Given the description of an element on the screen output the (x, y) to click on. 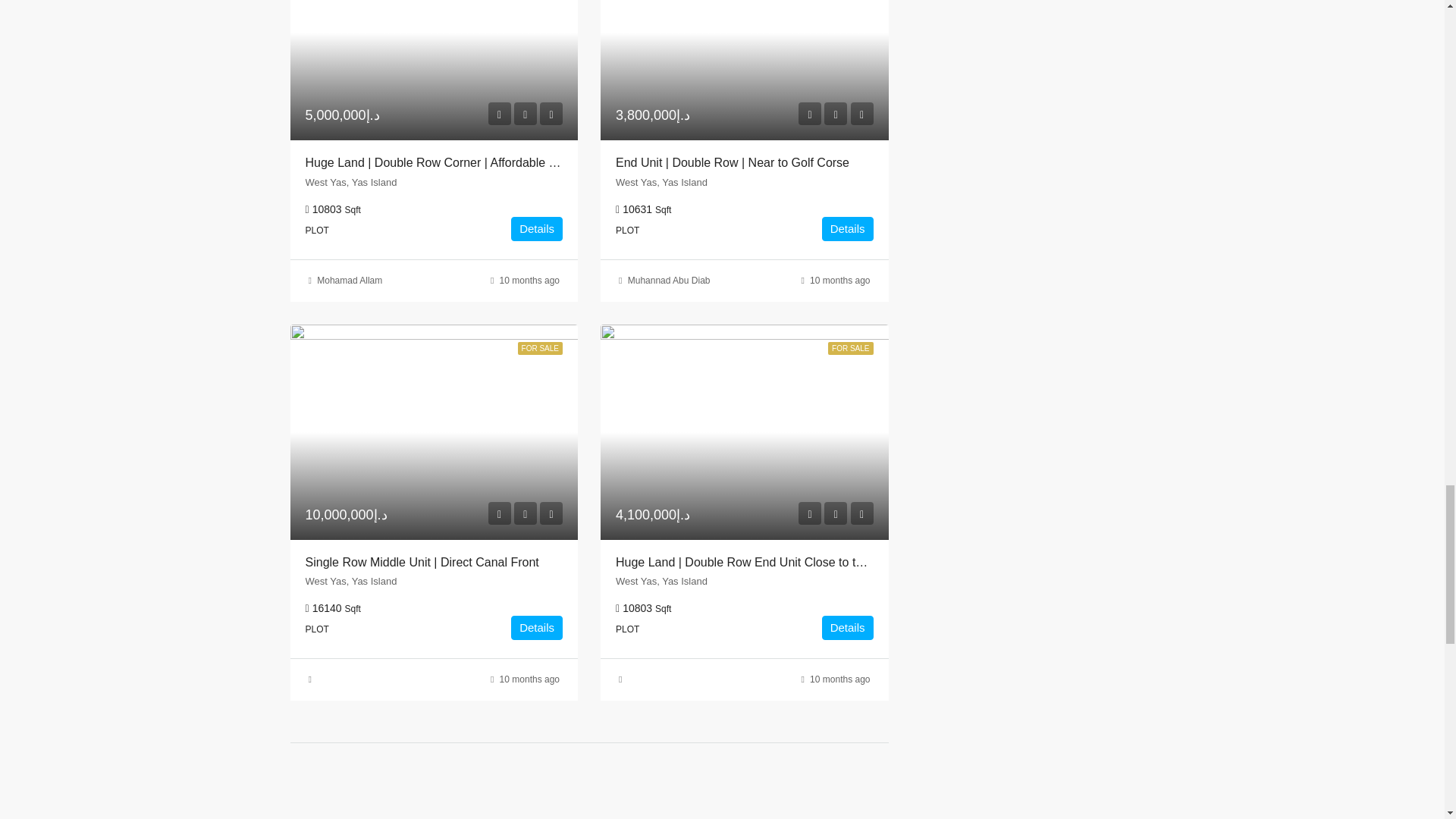
Favourite (525, 113)
Favourite (835, 113)
Preview (499, 113)
Preview (809, 113)
Add to Compare (551, 113)
